Given the description of an element on the screen output the (x, y) to click on. 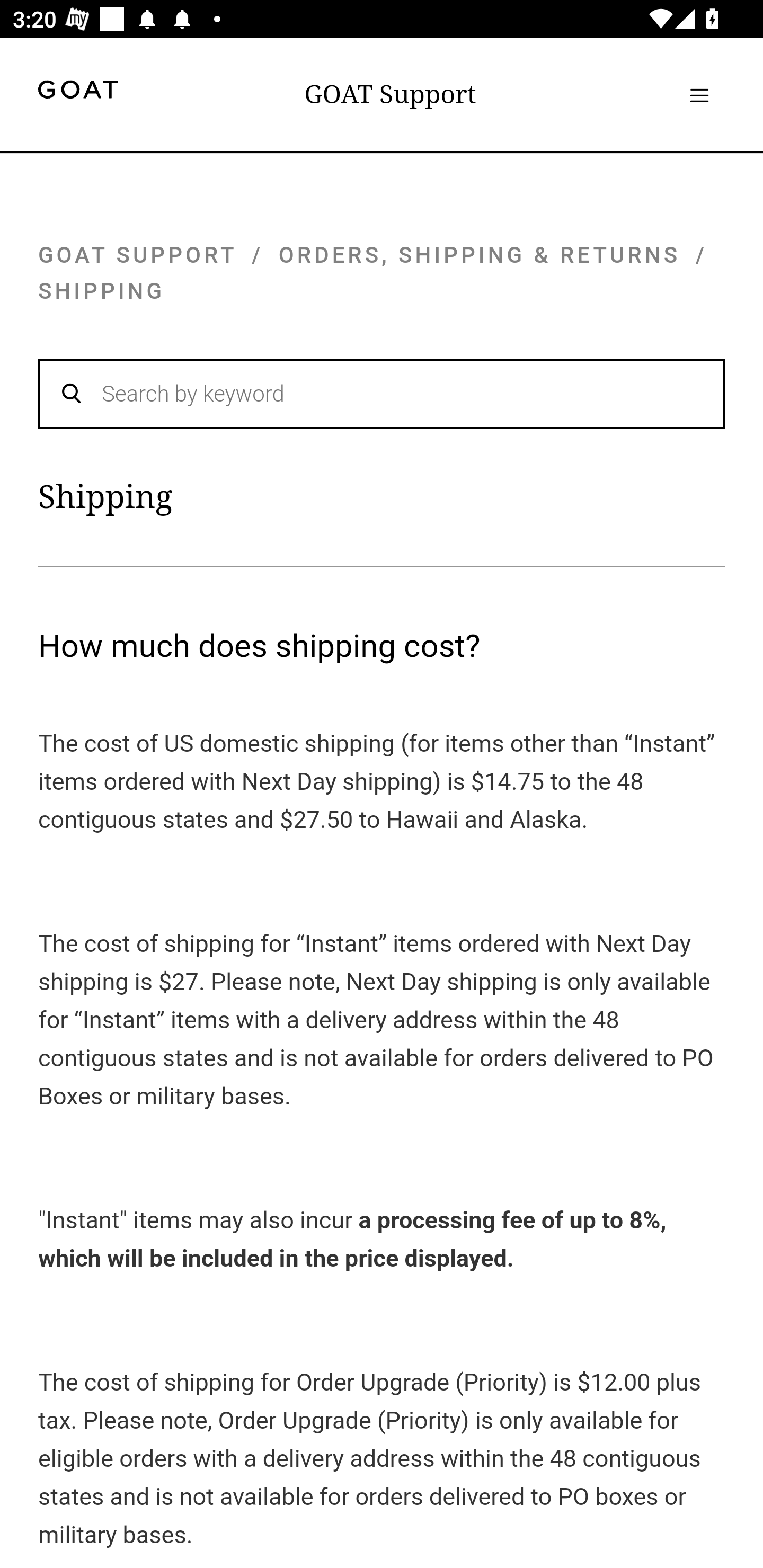
goat header logo (77, 92)
Toggle navigation menu (698, 94)
GOAT Support (389, 94)
GOAT SUPPORT (137, 254)
ORDERS, SHIPPING & RETURNS (480, 254)
SHIPPING (101, 291)
